Given the description of an element on the screen output the (x, y) to click on. 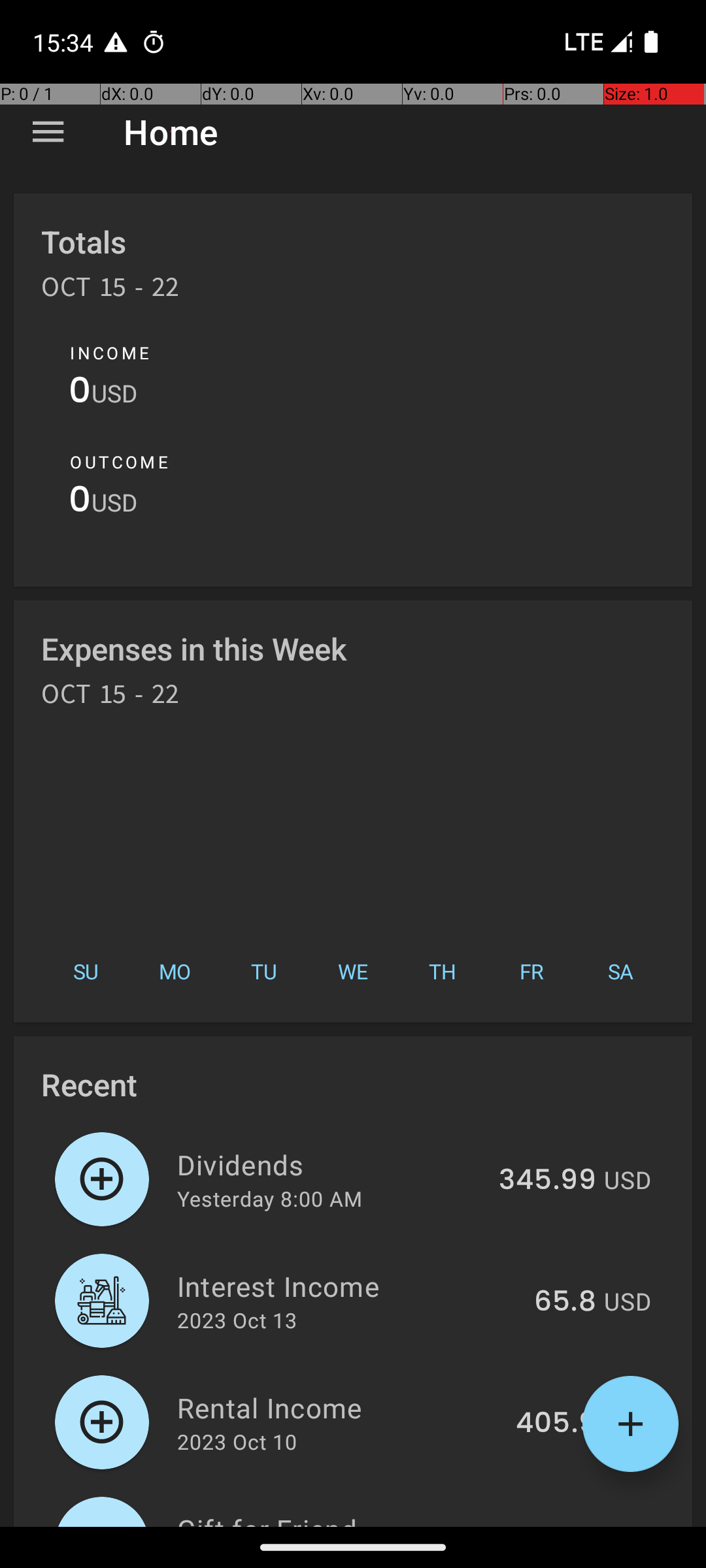
Dividends Element type: android.widget.TextView (330, 1164)
Yesterday 8:00 AM Element type: android.widget.TextView (269, 1198)
345.99 Element type: android.widget.TextView (547, 1180)
Interest Income Element type: android.widget.TextView (347, 1285)
65.8 Element type: android.widget.TextView (564, 1301)
Rental Income Element type: android.widget.TextView (338, 1407)
2023 Oct 10 Element type: android.widget.TextView (236, 1441)
405.9 Element type: android.widget.TextView (555, 1423)
Gift for Friend Element type: android.widget.TextView (334, 1518)
431.48 Element type: android.widget.TextView (550, 1524)
